Given the description of an element on the screen output the (x, y) to click on. 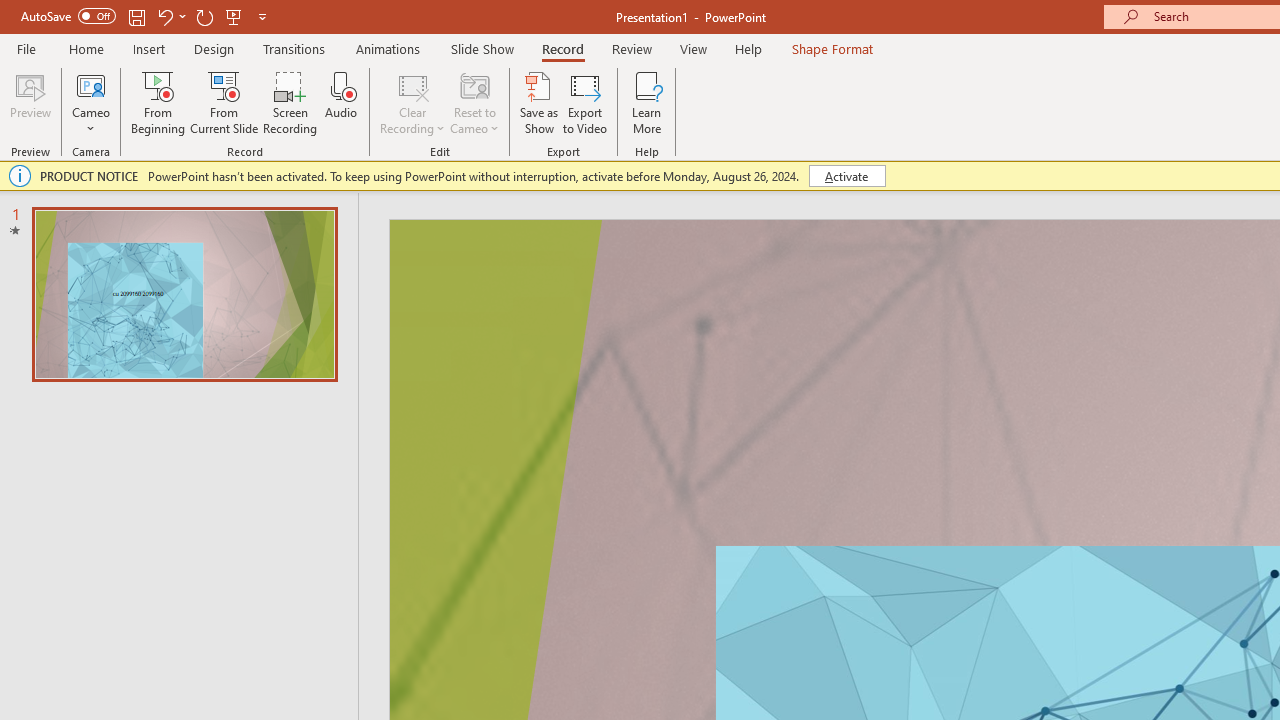
Help (748, 48)
From Beginning (234, 15)
System (10, 11)
Customize Quick Access Toolbar (262, 15)
Shape Format (832, 48)
Transitions (294, 48)
Undo (170, 15)
More Options (91, 121)
